Given the description of an element on the screen output the (x, y) to click on. 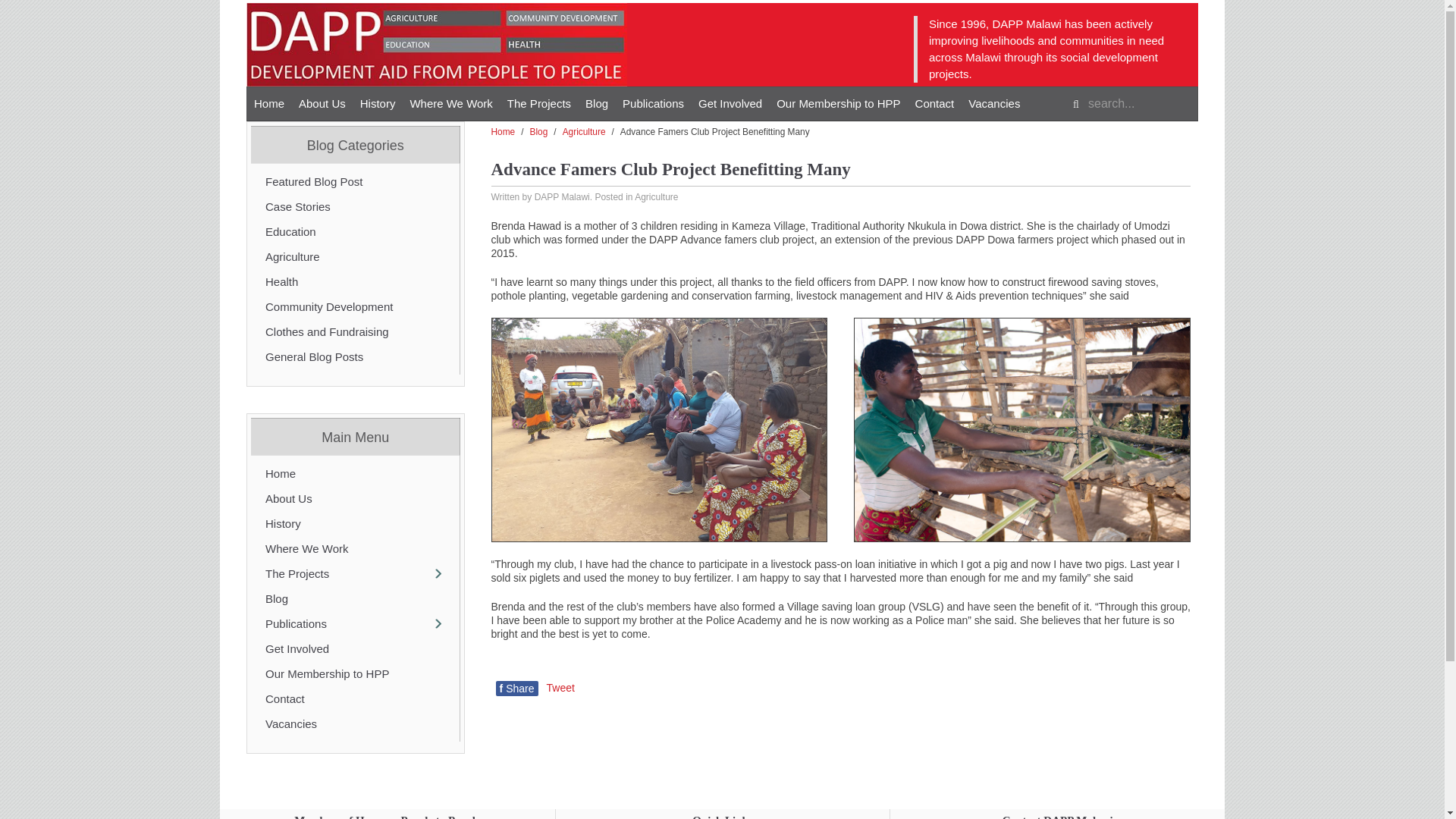
Our Membership to HPP (837, 103)
History (377, 103)
The Projects (538, 103)
Vacancies (993, 103)
Home (269, 103)
Publications (652, 103)
Where We Work (450, 103)
Get Involved (730, 103)
About Us (322, 103)
Contact (934, 103)
